Given the description of an element on the screen output the (x, y) to click on. 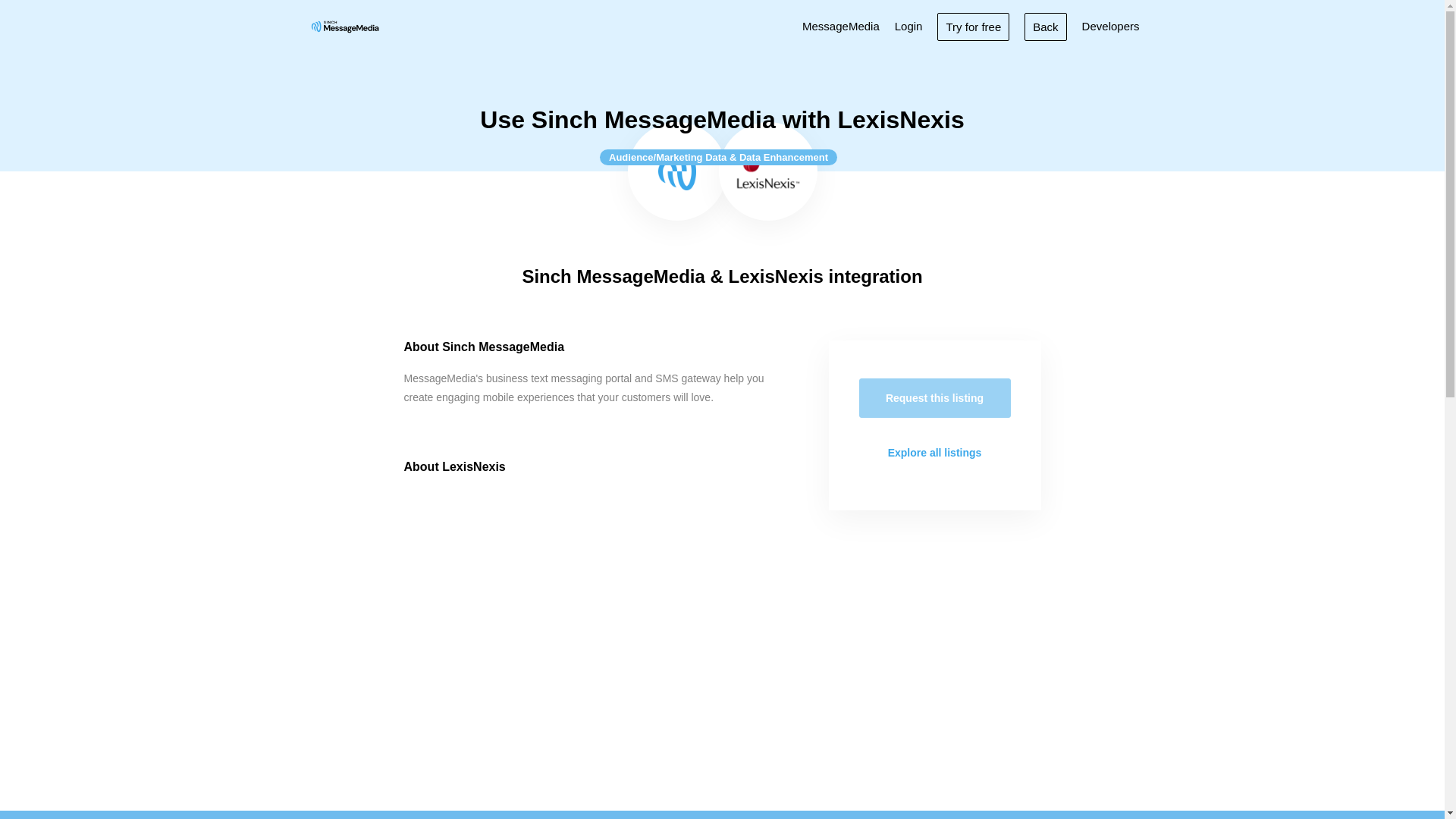
Request this listing (934, 397)
Back (1045, 26)
Developers (1110, 25)
Explore all listings (934, 452)
LexisNexis (766, 171)
Login (909, 25)
Sinch MessageMedia (344, 26)
MessageMedia (840, 25)
Sinch MessageMedia (676, 171)
Try for free (973, 26)
